Given the description of an element on the screen output the (x, y) to click on. 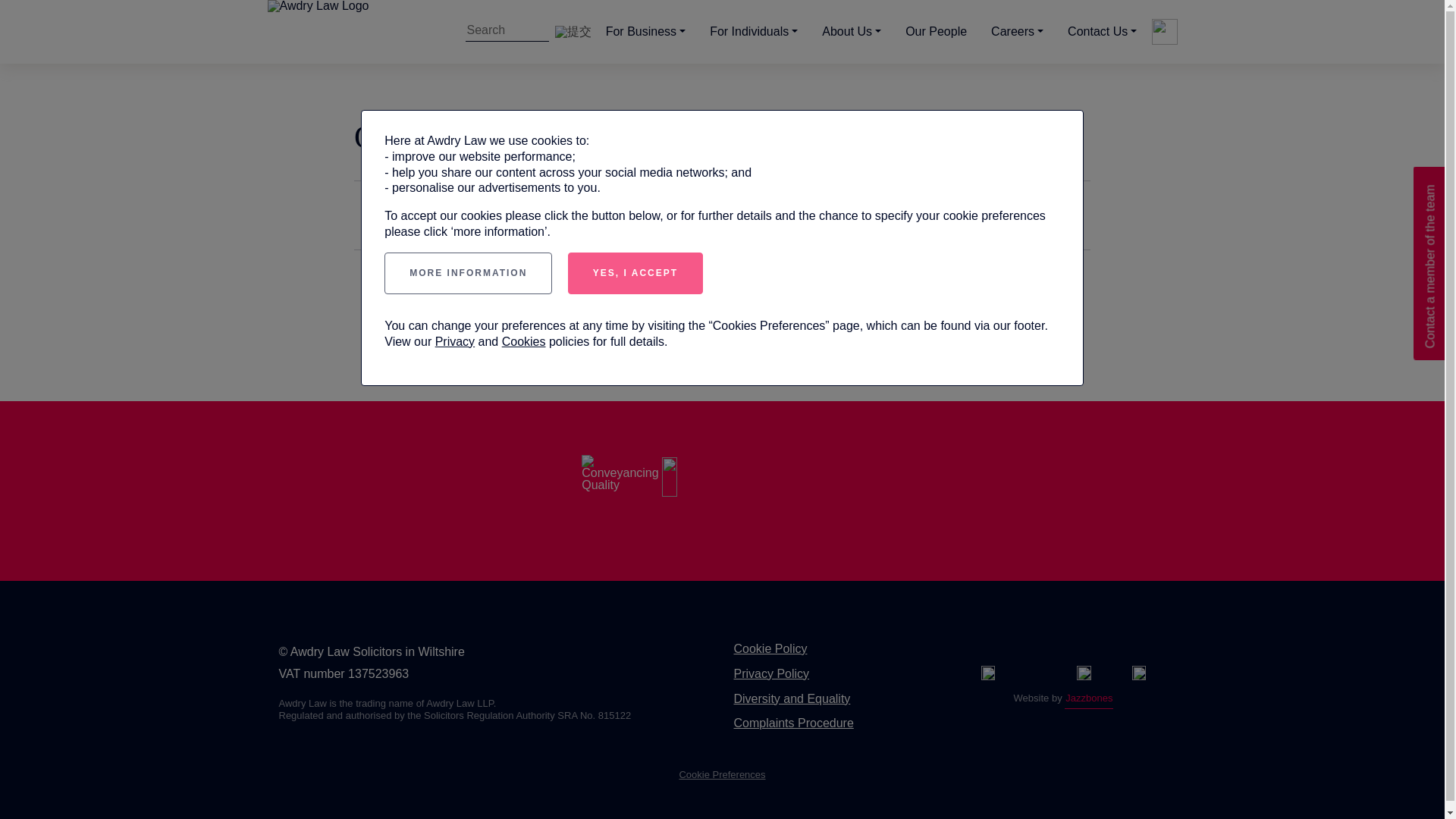
For Individuals (753, 32)
Search: (506, 31)
Awdrys on LinedIn (1138, 672)
Cookie Policy (770, 648)
Privacy Policy (771, 673)
MORE INFORMATION (467, 273)
For Business (645, 32)
Careers (1016, 32)
Our People (935, 32)
YES, I ACCEPT (635, 273)
